Given the description of an element on the screen output the (x, y) to click on. 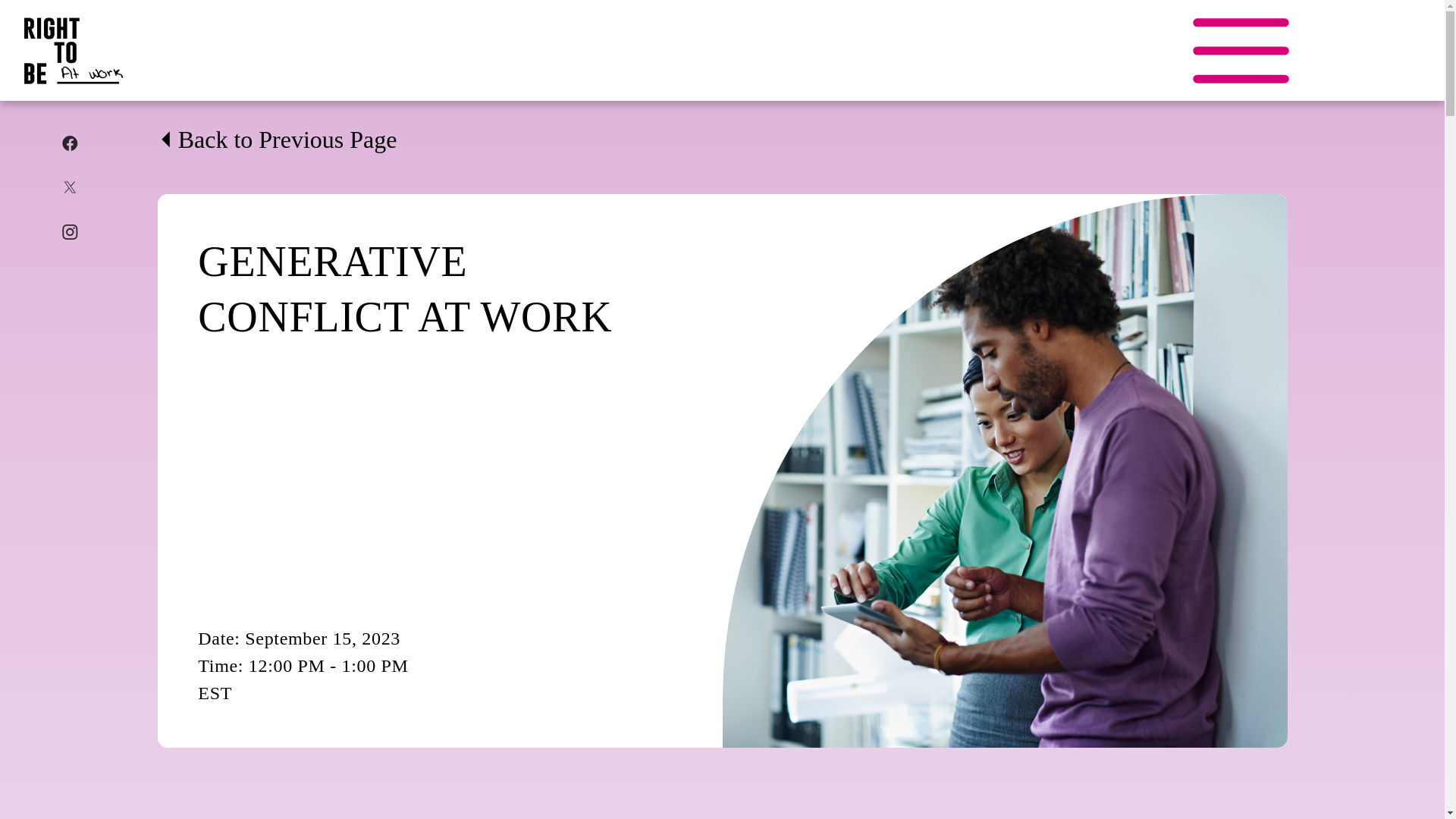
Back to Previous Page (277, 139)
